Given the description of an element on the screen output the (x, y) to click on. 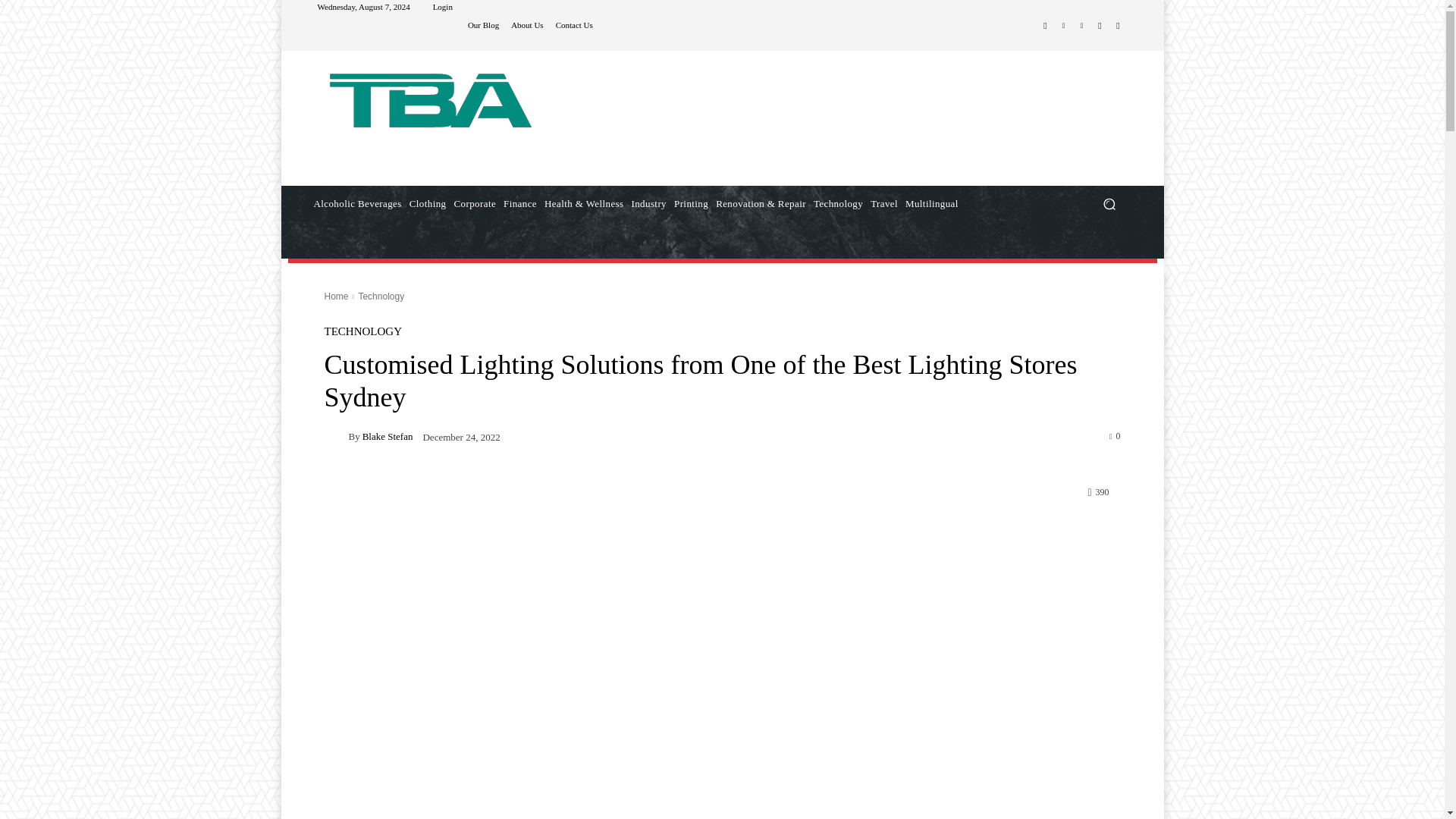
Clothing (427, 203)
Login (442, 7)
Blake Stefan (336, 435)
About Us (527, 25)
Twitter (1099, 25)
Contact Us (574, 25)
View all posts in Technology (381, 296)
Travel (883, 203)
Pinterest (1080, 25)
Printing (690, 203)
Alcoholic Beverages (356, 203)
Technology (837, 203)
Facebook (1044, 25)
Finance (519, 203)
Youtube (1117, 25)
